Given the description of an element on the screen output the (x, y) to click on. 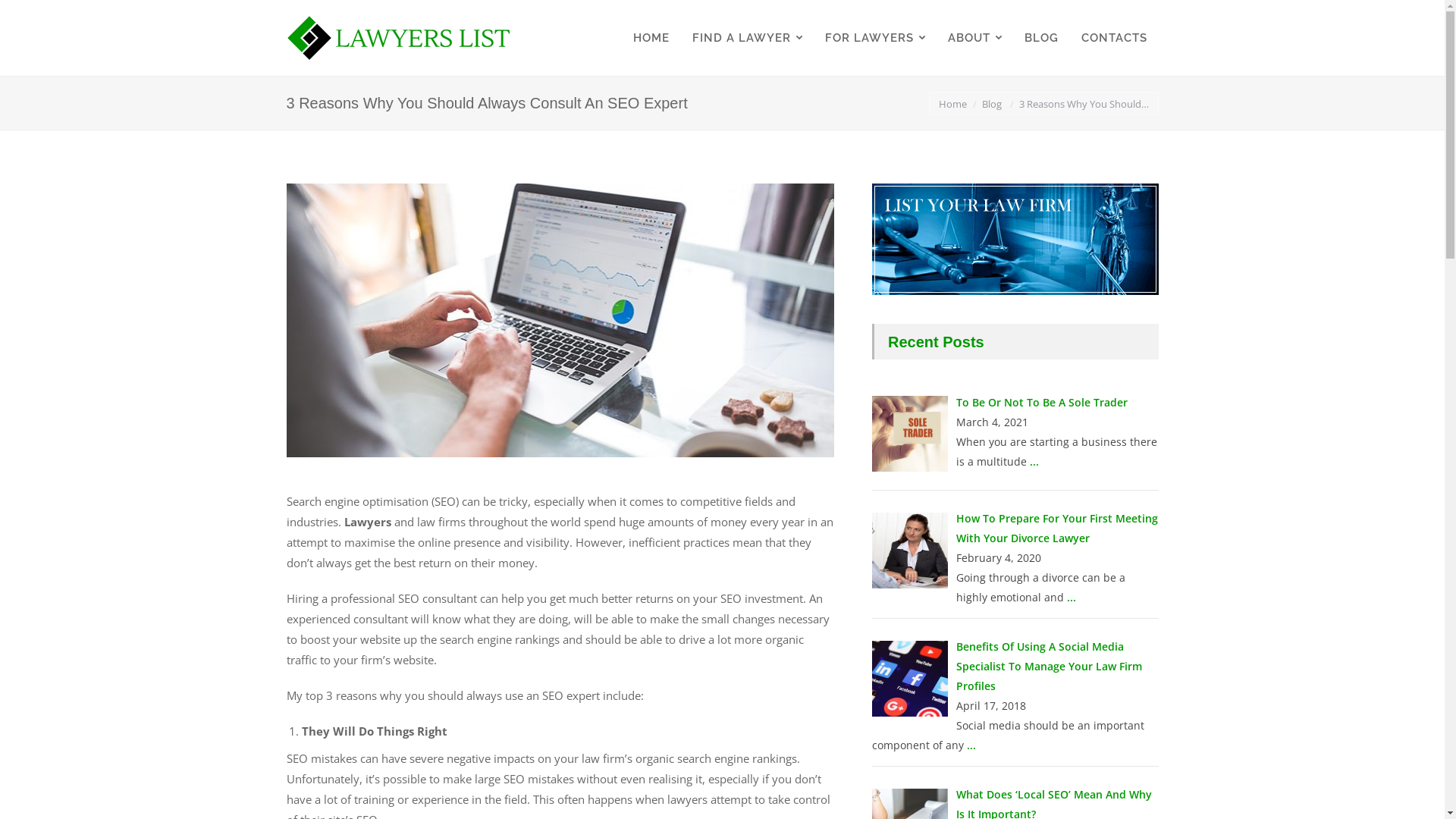
FOR LAWYERS Element type: text (873, 37)
ABOUT Element type: text (973, 37)
To Be Or Not To Be A Sole Trader Element type: text (1040, 402)
... Element type: text (970, 744)
BLOG Element type: text (1041, 37)
b1 Element type: hover (560, 320)
FIND A LAWYER Element type: text (746, 37)
HOME Element type: text (650, 37)
CONTACTS Element type: text (1113, 37)
Blog Element type: text (991, 103)
... Element type: text (1033, 461)
Home Element type: text (952, 103)
... Element type: text (1070, 596)
